Given the description of an element on the screen output the (x, y) to click on. 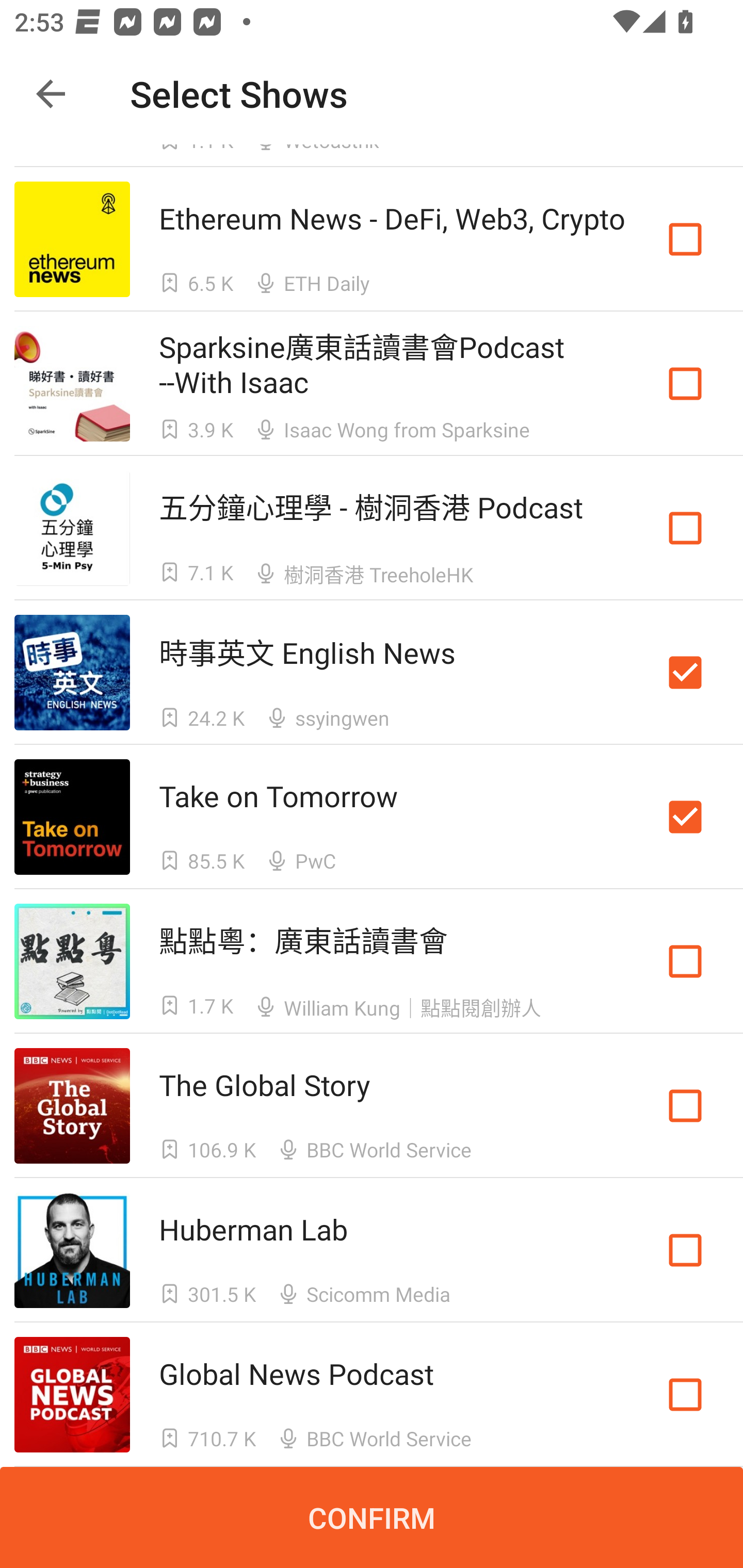
Navigate up (50, 93)
Take on Tomorrow Take on Tomorrow  85.5 K  PwC (371, 816)
CONFIRM (371, 1517)
